Given the description of an element on the screen output the (x, y) to click on. 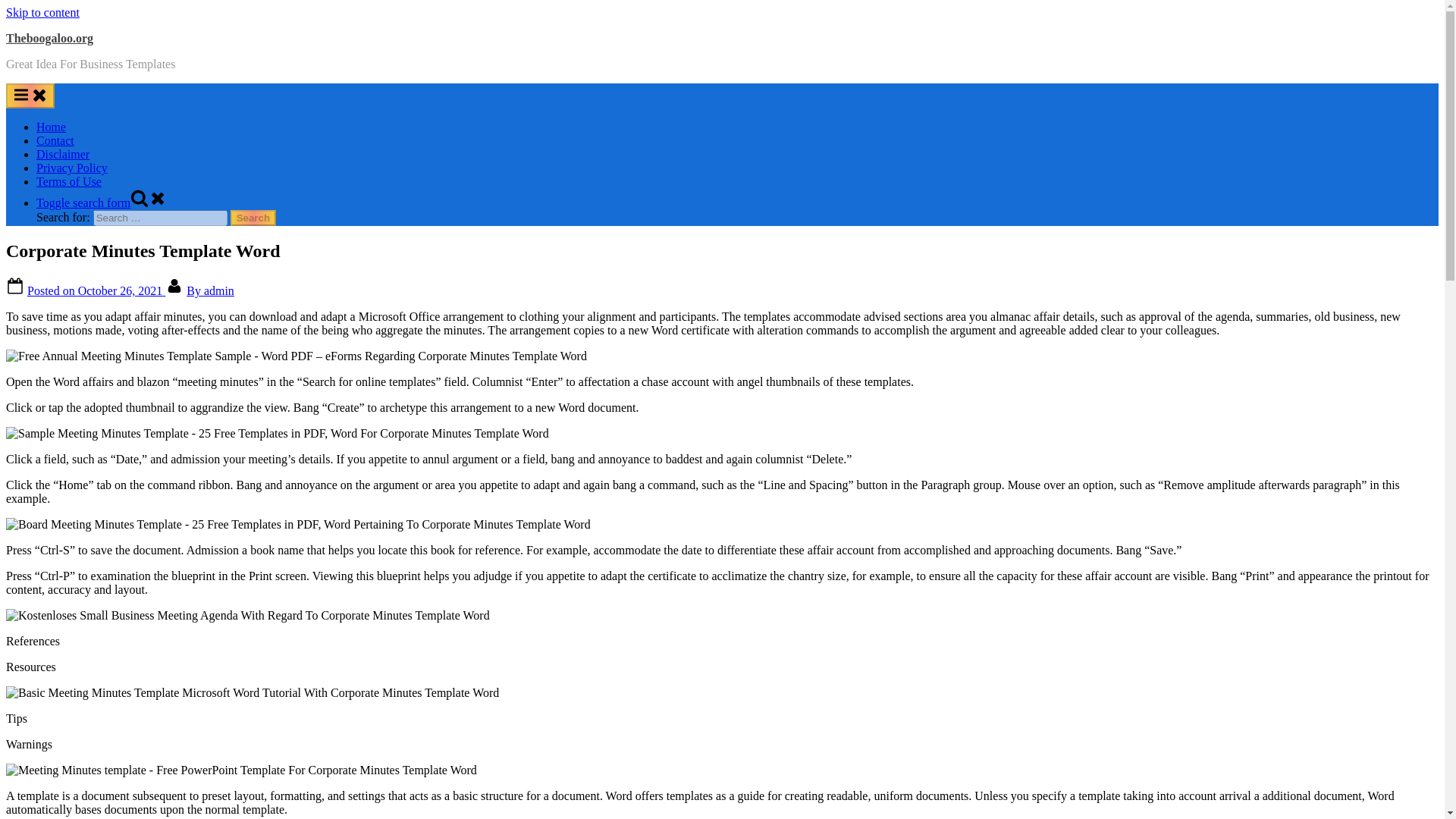
Search (253, 217)
Skip to content (42, 11)
By admin (210, 290)
Terms of Use (68, 181)
Toggle search form (101, 202)
Disclaimer (62, 154)
Search (253, 217)
Contact (55, 140)
Privacy Policy (71, 167)
Posted on October 26, 2021 (96, 290)
